Given the description of an element on the screen output the (x, y) to click on. 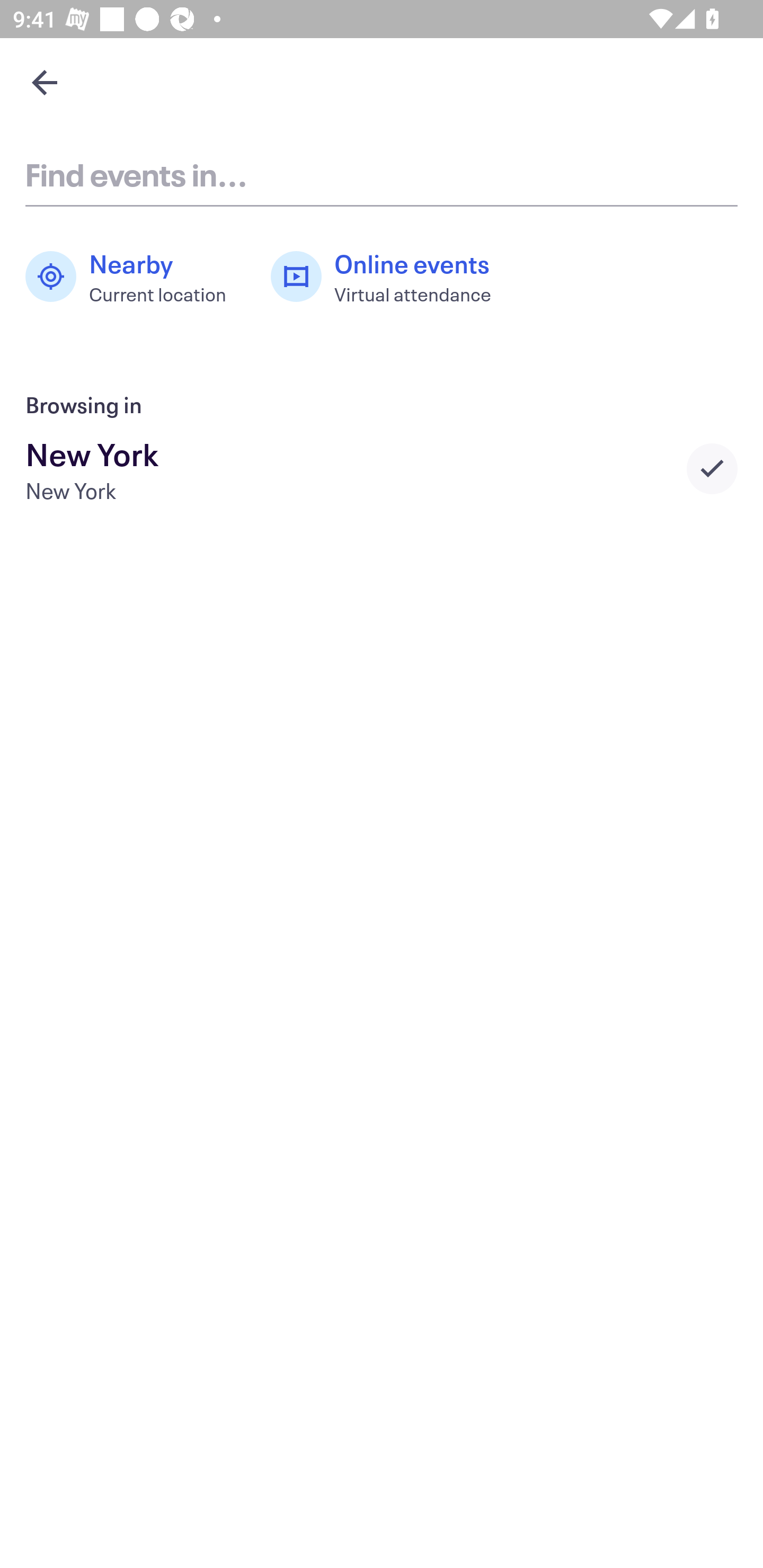
Navigate up (44, 82)
Find events in... (381, 173)
Nearby Current location (135, 276)
Online events Virtual attendance (390, 276)
New York New York Selected city (381, 468)
